Given the description of an element on the screen output the (x, y) to click on. 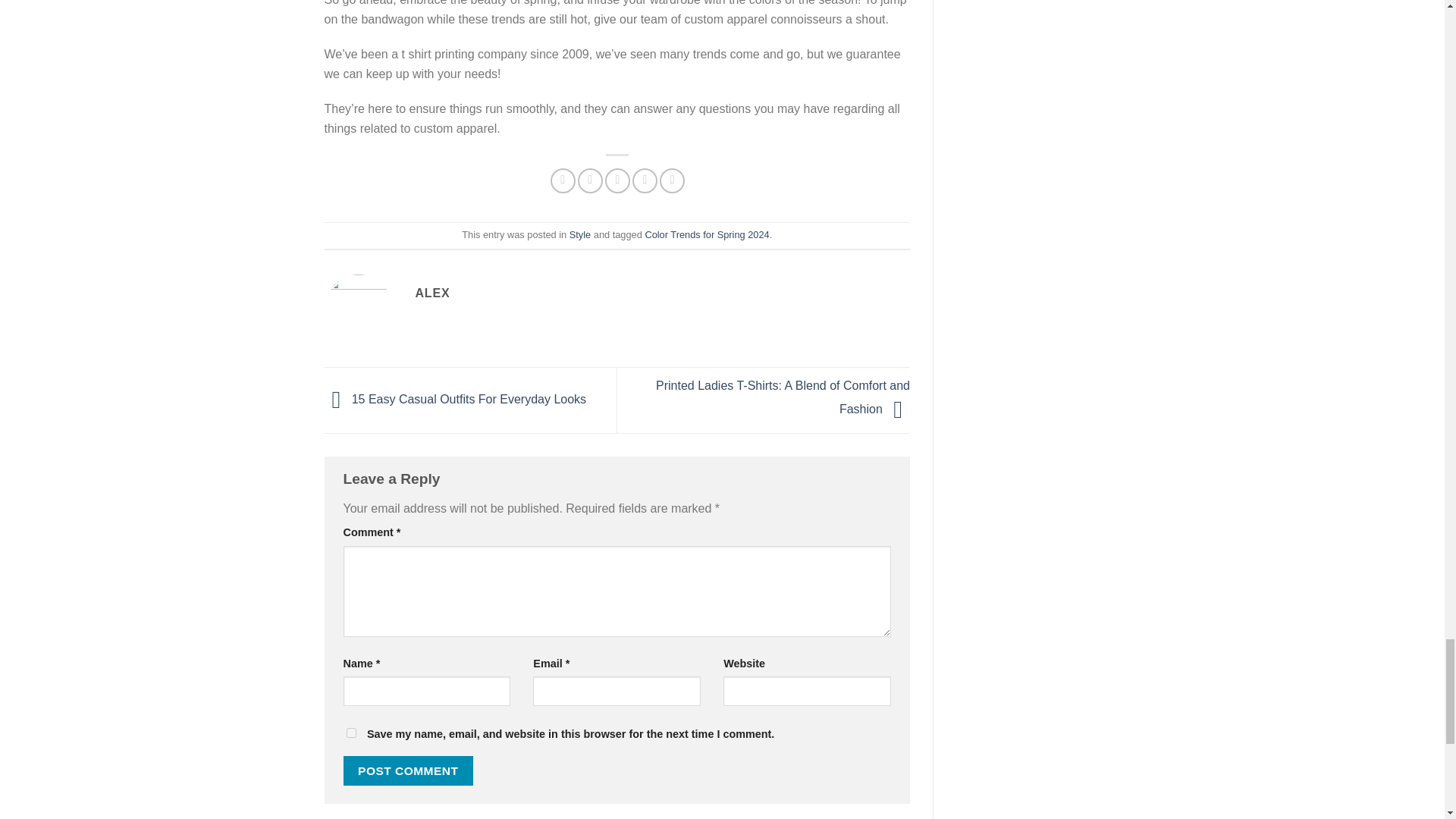
Printed Ladies T-Shirts: A Blend of Comfort and Fashion (783, 397)
15 Easy Casual Outfits For Everyday Looks (455, 399)
yes (350, 732)
Share on Twitter (590, 180)
Post Comment (407, 770)
Share on LinkedIn (671, 180)
Share on Facebook (562, 180)
Style (580, 234)
Email to a Friend (617, 180)
Color Trends for Spring 2024 (706, 234)
